Given the description of an element on the screen output the (x, y) to click on. 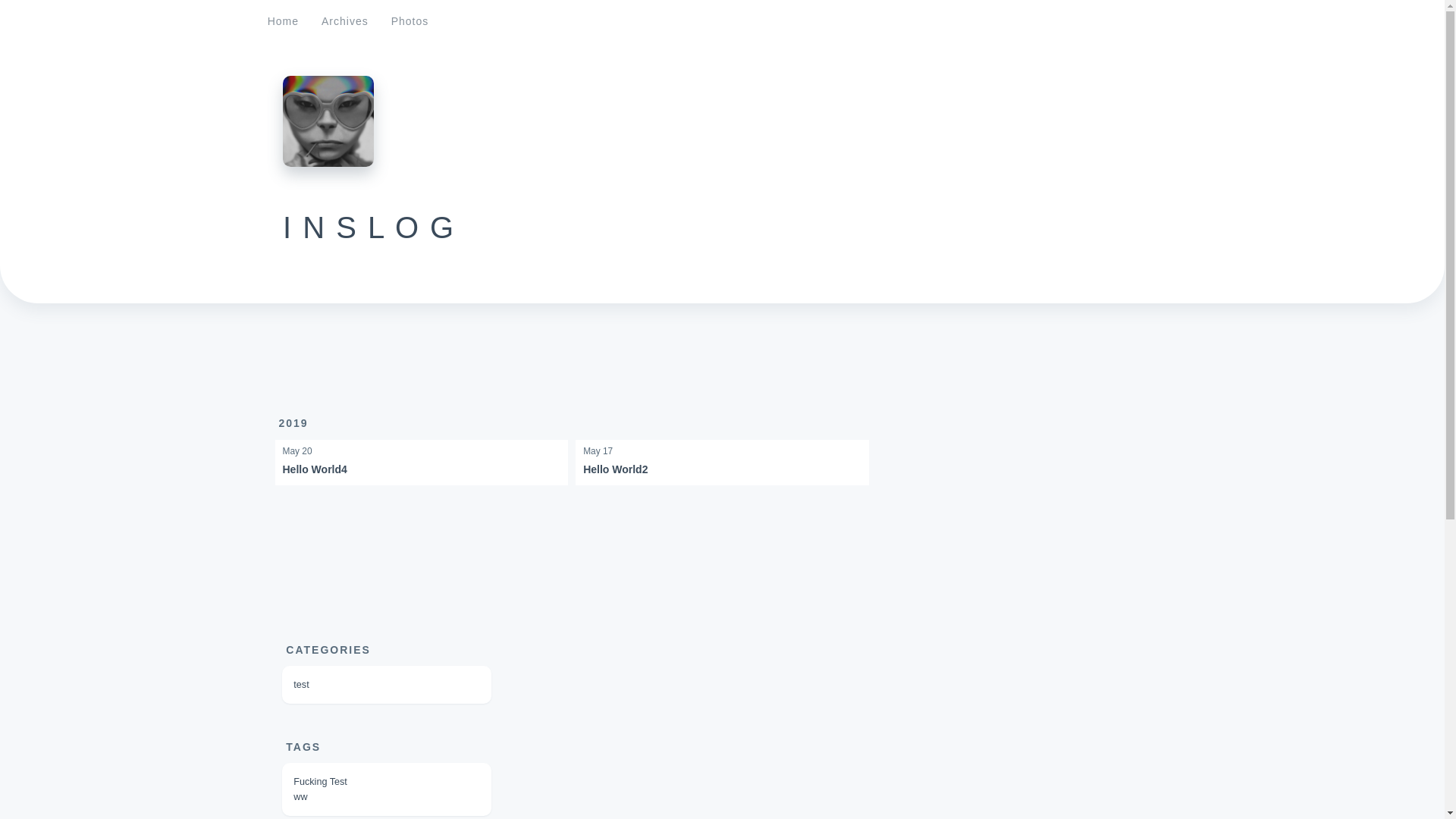
I N S L O G Element type: text (368, 227)
test Element type: text (300, 684)
May 17 Element type: text (722, 451)
Home Element type: text (283, 21)
Hello World4 Element type: text (314, 469)
Archives Element type: text (344, 21)
May 20 Element type: text (421, 451)
Hello World2 Element type: text (615, 469)
Fucking Test Element type: text (319, 781)
ww Element type: text (300, 796)
2019 Element type: text (293, 423)
Photos Element type: text (409, 21)
